Given the description of an element on the screen output the (x, y) to click on. 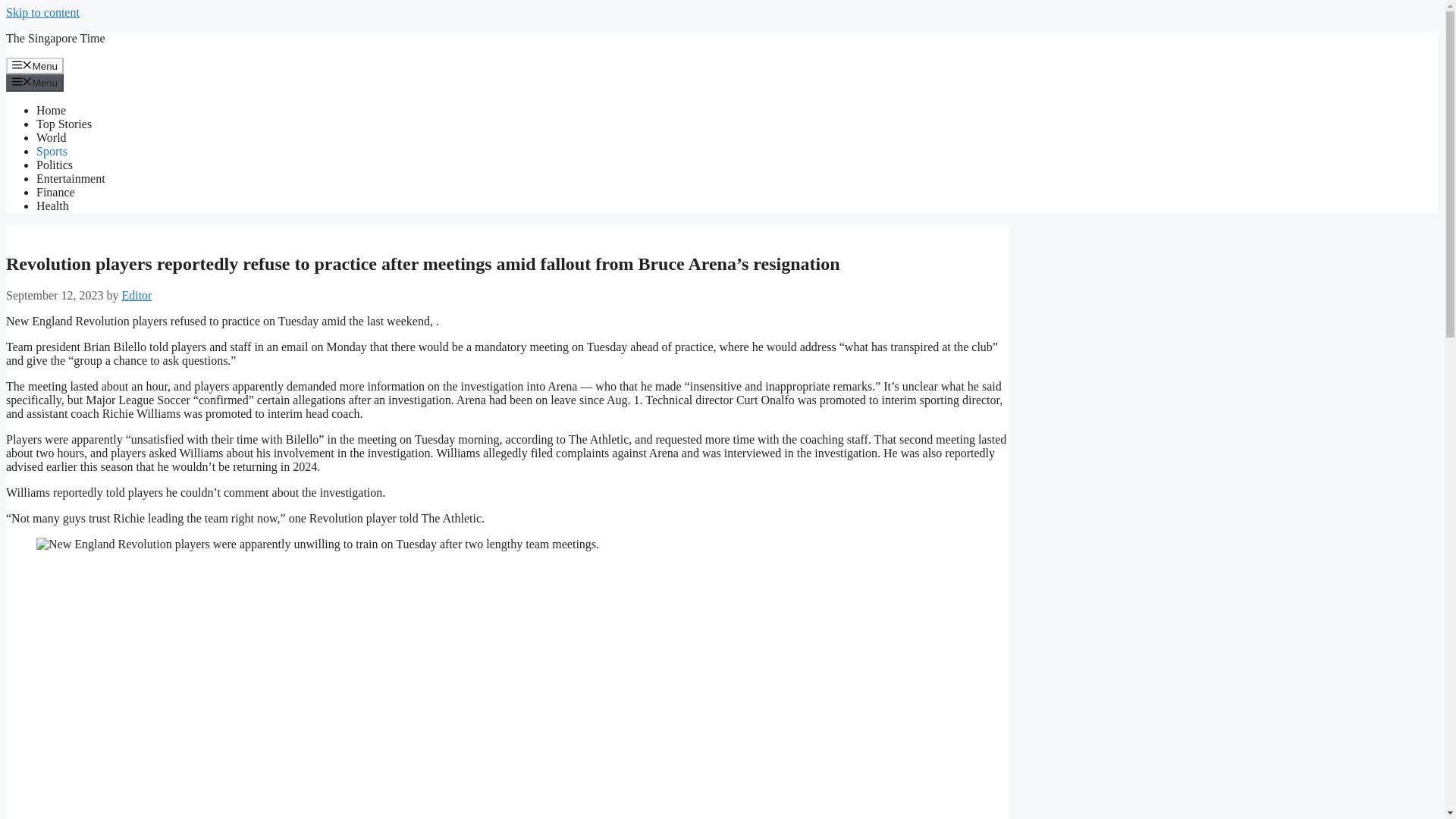
Menu (34, 82)
Sports (51, 151)
The Singapore Time (54, 38)
View all posts by Editor (135, 295)
Politics (54, 164)
Entertainment (70, 178)
Finance (55, 192)
Top Stories (63, 123)
World (51, 137)
Menu (34, 65)
Home (50, 110)
Health (52, 205)
Skip to content (42, 11)
Skip to content (42, 11)
Editor (135, 295)
